Given the description of an element on the screen output the (x, y) to click on. 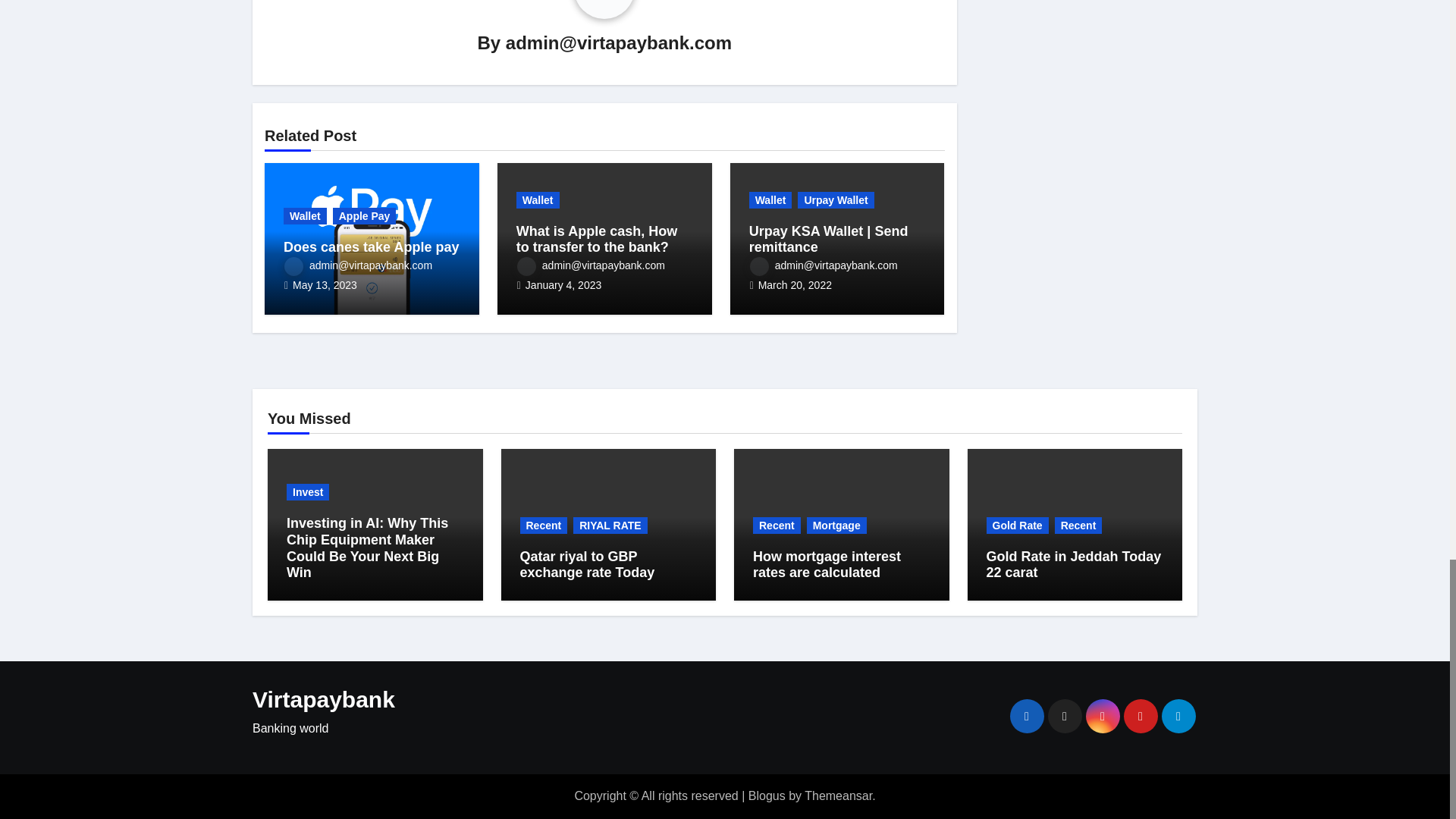
Permalink to: How mortgage interest rates are calculated (826, 564)
Permalink to: Does canes take Apple pay (370, 246)
Permalink to: Qatar riyal to GBP exchange rate Today (587, 564)
Permalink to: Gold Rate in Jeddah Today 22 carat (1072, 564)
